Given the description of an element on the screen output the (x, y) to click on. 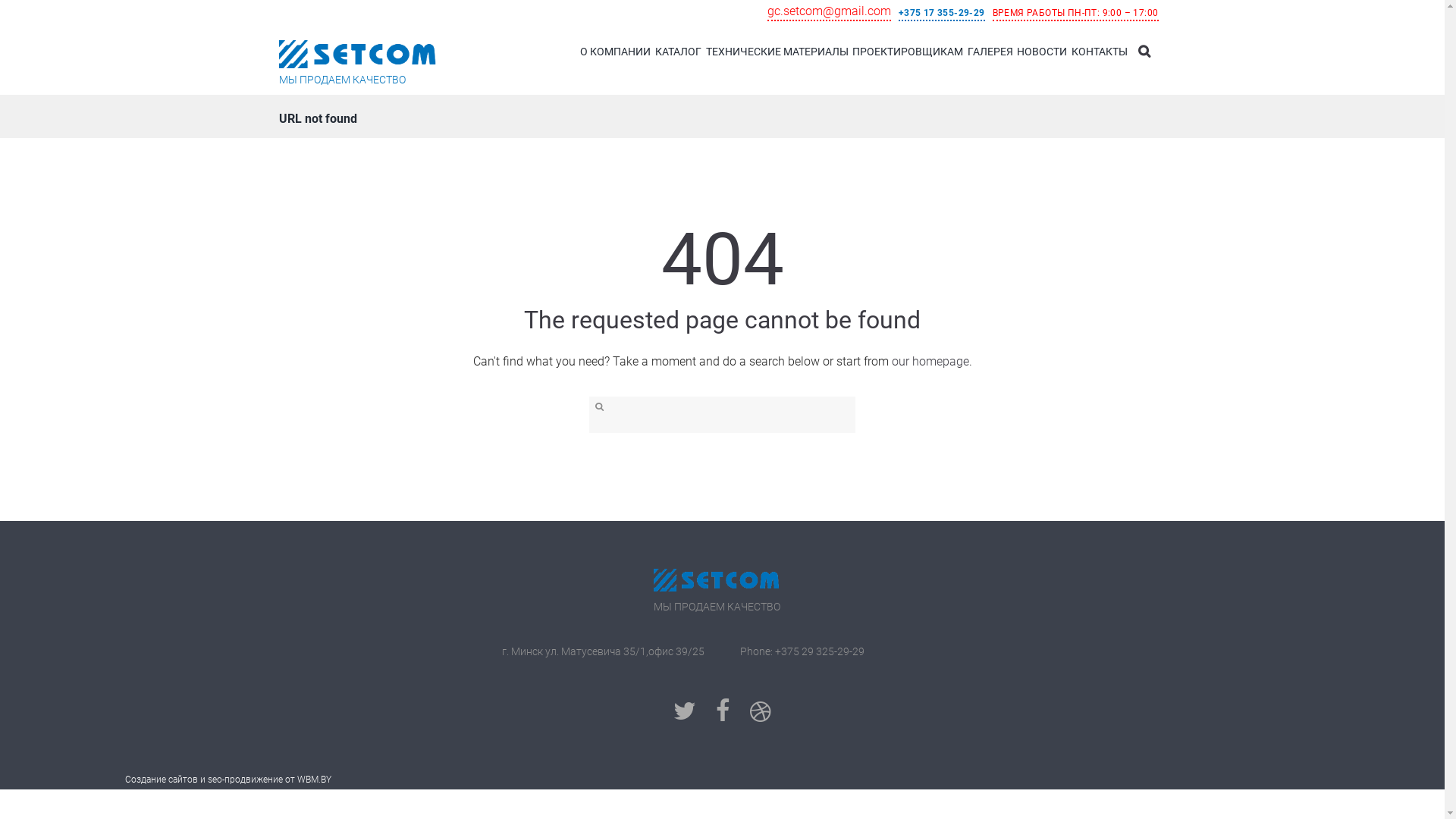
Open search Element type: hover (1144, 51)
WBM.BY Element type: text (314, 779)
Start search Element type: hover (598, 406)
+375 17 355-29-29 Element type: text (941, 14)
our homepage Element type: text (930, 361)
gc.setcom@gmail.com Element type: text (829, 12)
